Given the description of an element on the screen output the (x, y) to click on. 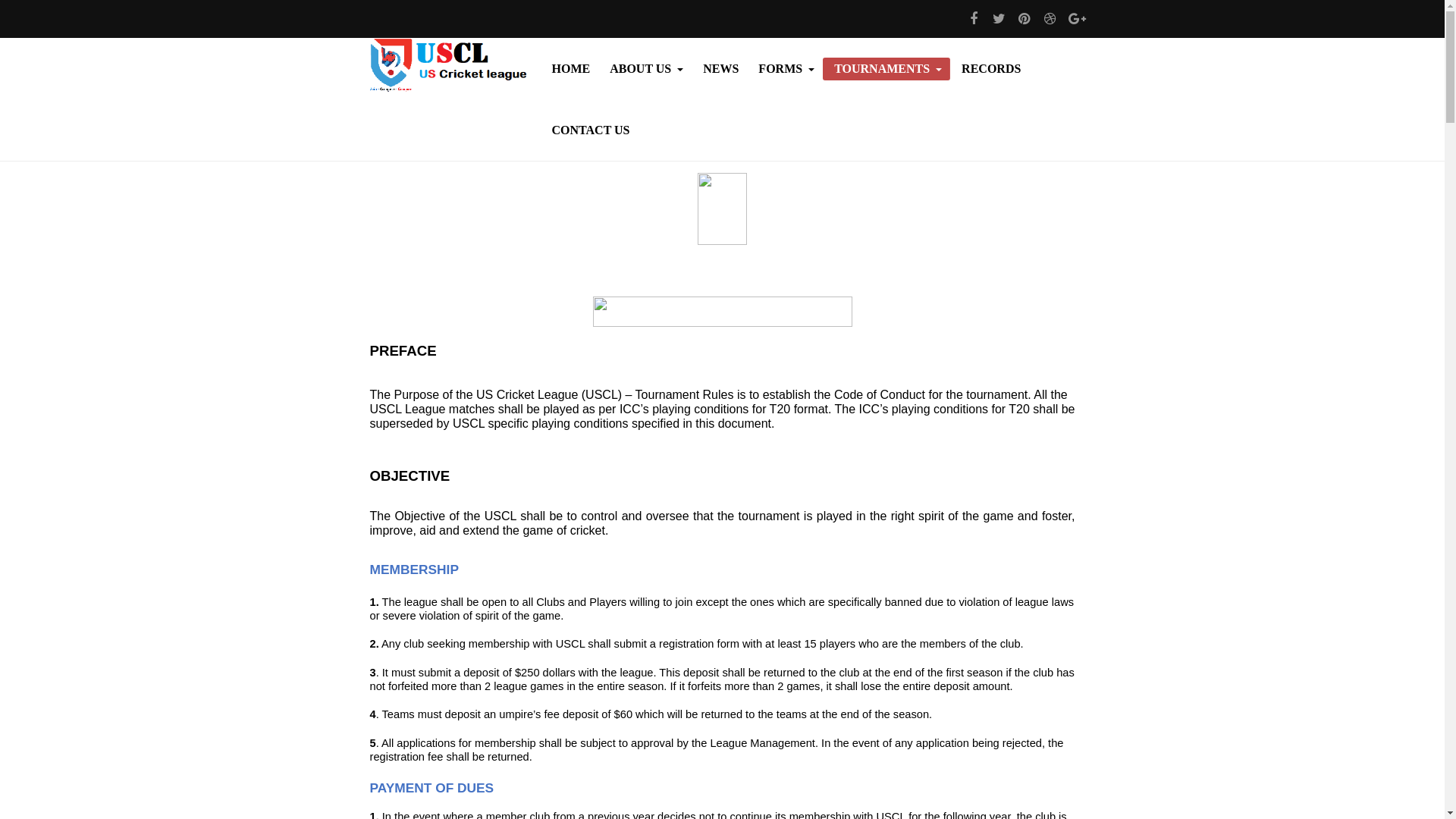
NEWS (718, 68)
US Cricket League (449, 64)
TOURNAMENTS (886, 68)
FORMS (784, 68)
CONTACT US (588, 129)
ABOUT US (644, 68)
HOME (569, 68)
RECORDS (989, 68)
